Given the description of an element on the screen output the (x, y) to click on. 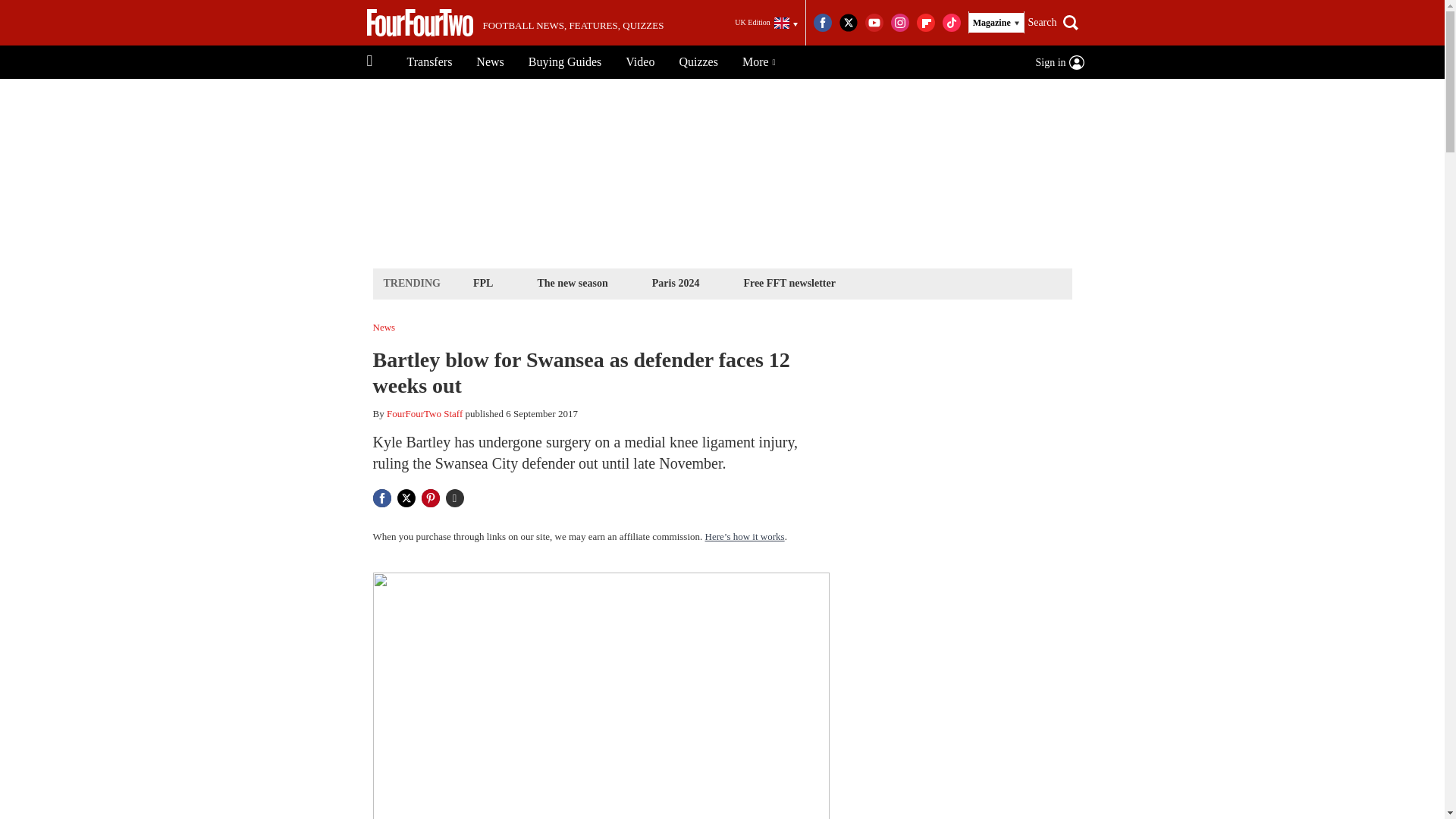
Free FFT newsletter (789, 282)
The new season (571, 282)
Paris 2024 (675, 282)
Quizzes (698, 61)
Buying Guides (564, 61)
Video (639, 61)
FourFourTwo Staff (425, 413)
News (489, 61)
FOOTBALL NEWS, FEATURES, QUIZZES (514, 22)
Transfers (429, 61)
UK Edition (765, 22)
FPL (482, 282)
